Given the description of an element on the screen output the (x, y) to click on. 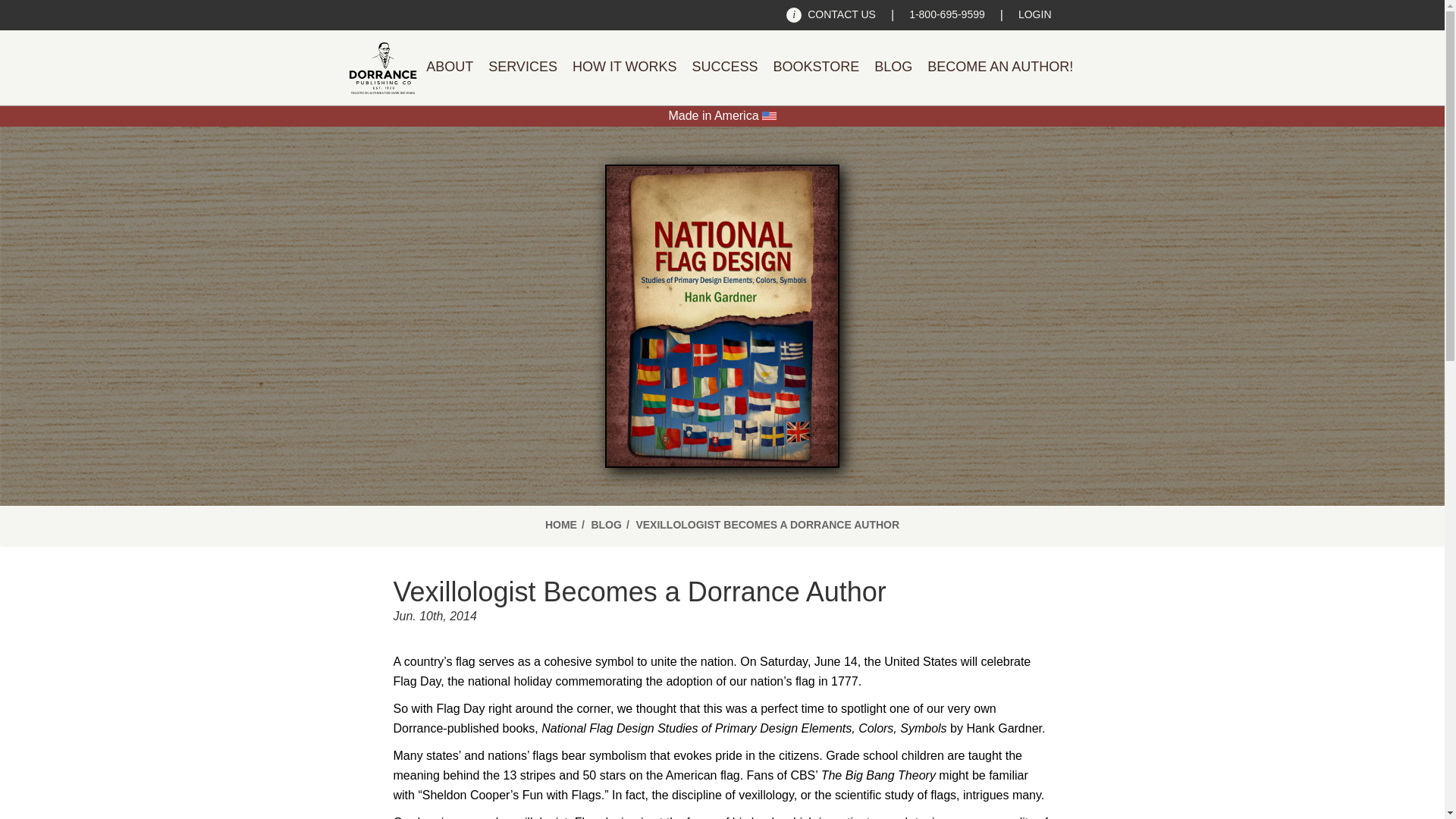
BLOG (893, 67)
Call Us (946, 15)
Login to Author Resources (1034, 15)
HOME (560, 525)
SERVICES (522, 67)
BLOG (606, 525)
CONTACT US (831, 15)
LOGIN (1034, 15)
SUCCESS (725, 67)
HOW IT WORKS (624, 67)
